Given the description of an element on the screen output the (x, y) to click on. 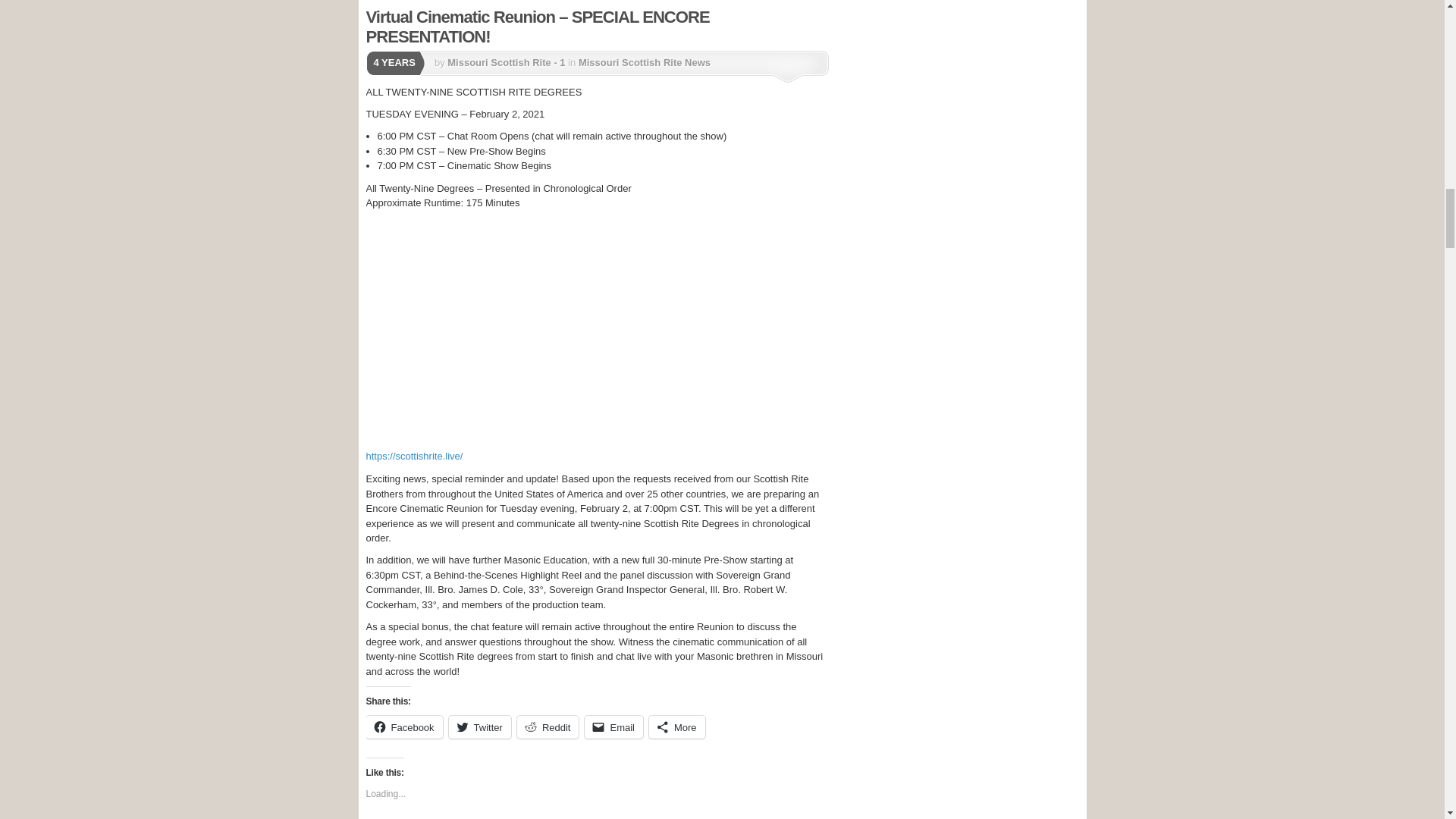
Posts by Missouri Scottish Rite - 1 (505, 61)
Click to share on Facebook (403, 726)
Missouri Scottish Rite News (644, 61)
Click to share on Reddit (547, 726)
Click to share on Twitter (479, 726)
Missouri Scottish Rite - 1 (505, 61)
Click to email a link to a friend (614, 726)
